Given the description of an element on the screen output the (x, y) to click on. 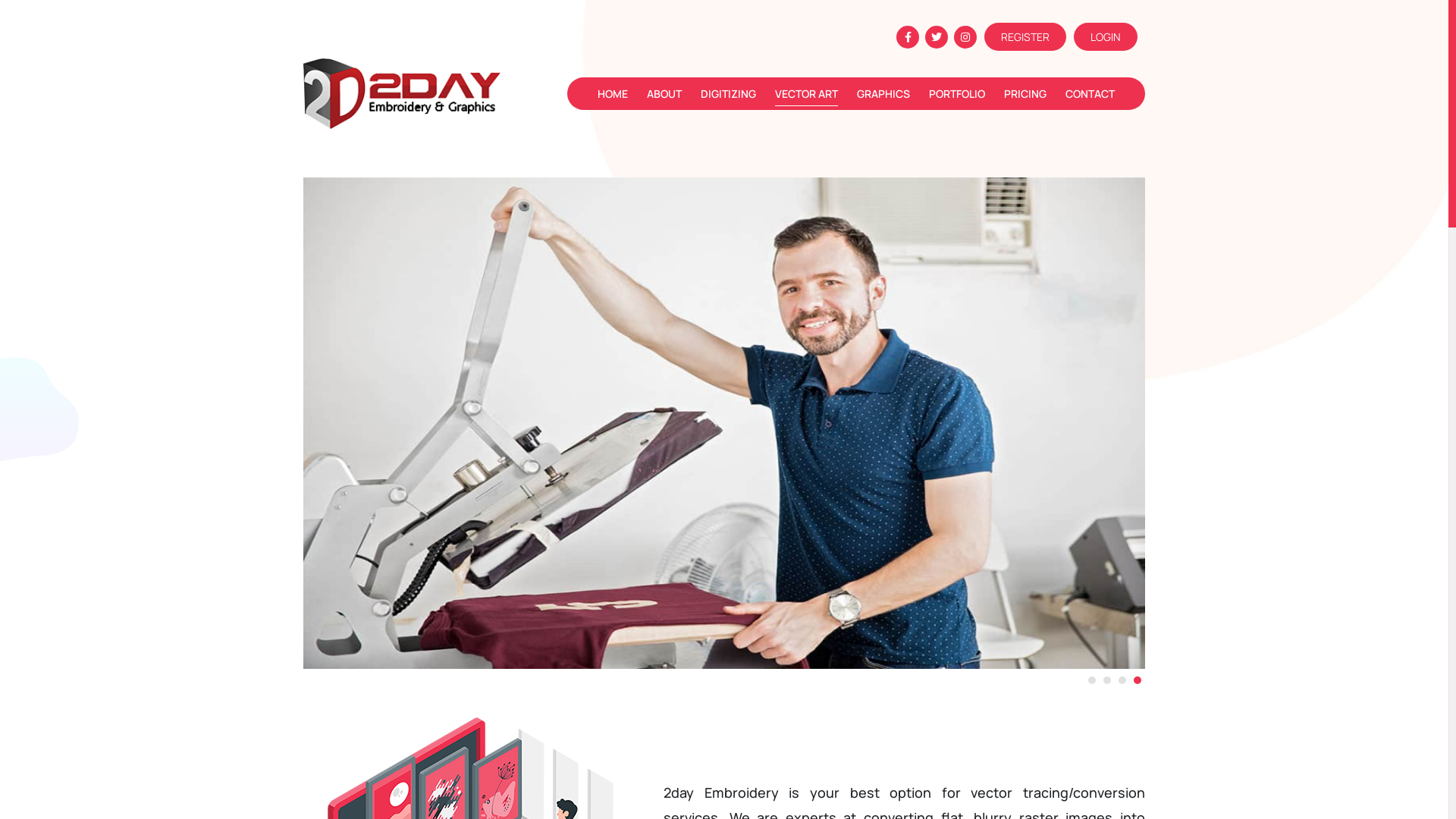
HOME Element type: text (612, 93)
3 Element type: text (1122, 680)
PRICING Element type: text (1025, 93)
ABOUT Element type: text (663, 93)
2 Element type: text (1106, 680)
CONTACT Element type: text (1089, 93)
DIGITIZING Element type: text (728, 93)
VECTOR ART Element type: text (806, 93)
LOGIN Element type: text (1105, 36)
4 Element type: text (1137, 680)
PORTFOLIO Element type: text (956, 93)
REGISTER Element type: text (1025, 36)
GRAPHICS Element type: text (883, 93)
1 Element type: text (1091, 680)
